Given the description of an element on the screen output the (x, y) to click on. 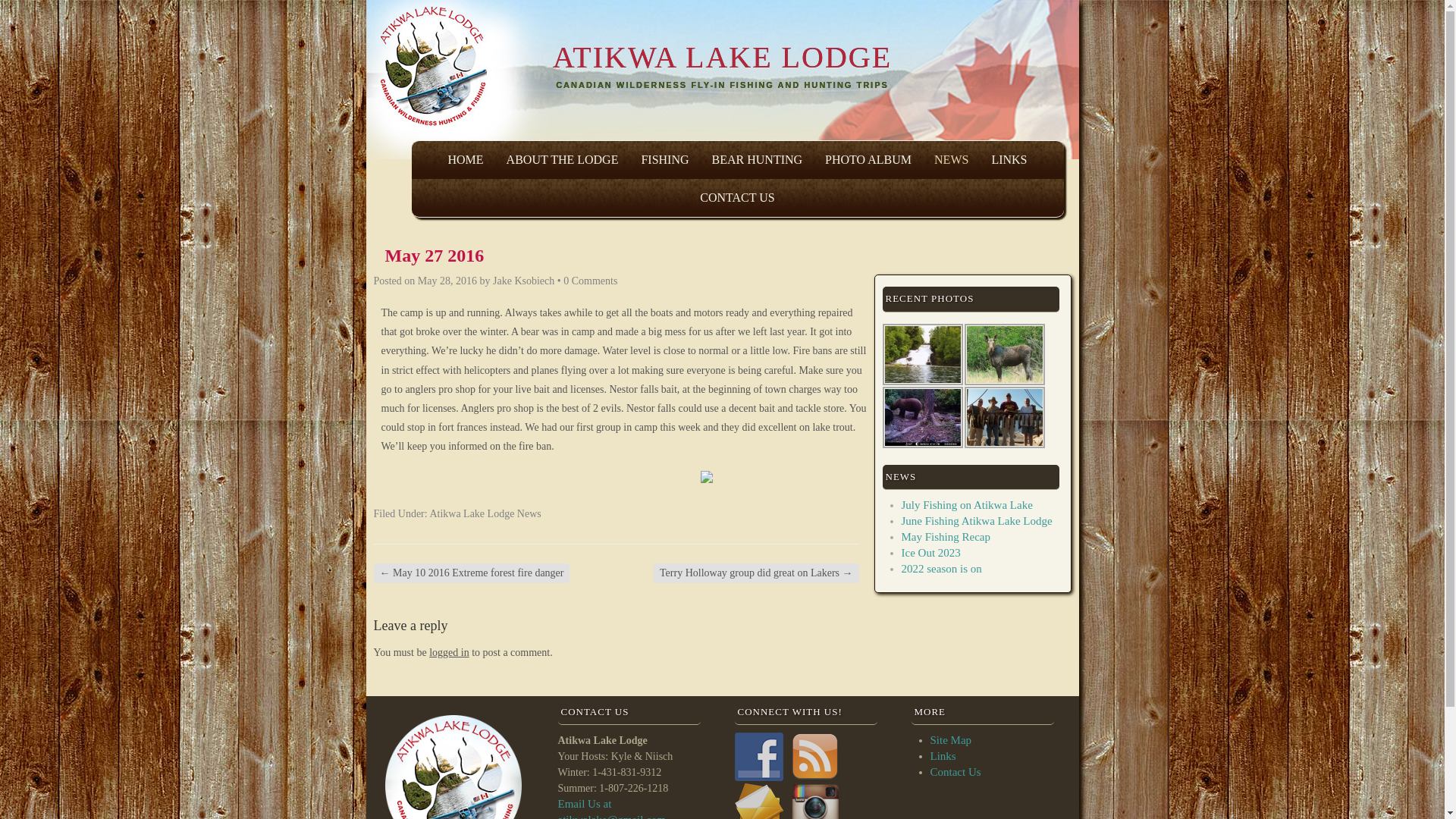
Follow Us on E-mail (758, 800)
Atikwa Lake Lodge News (484, 513)
FISHING (664, 159)
Links (942, 756)
ATIKWA LAKE LODGE (721, 57)
PHOTO ALBUM (868, 159)
logged in (448, 652)
ABOUT THE LODGE (562, 159)
View all posts by Jake Ksobiech (523, 280)
mdgc0111 (922, 416)
